Given the description of an element on the screen output the (x, y) to click on. 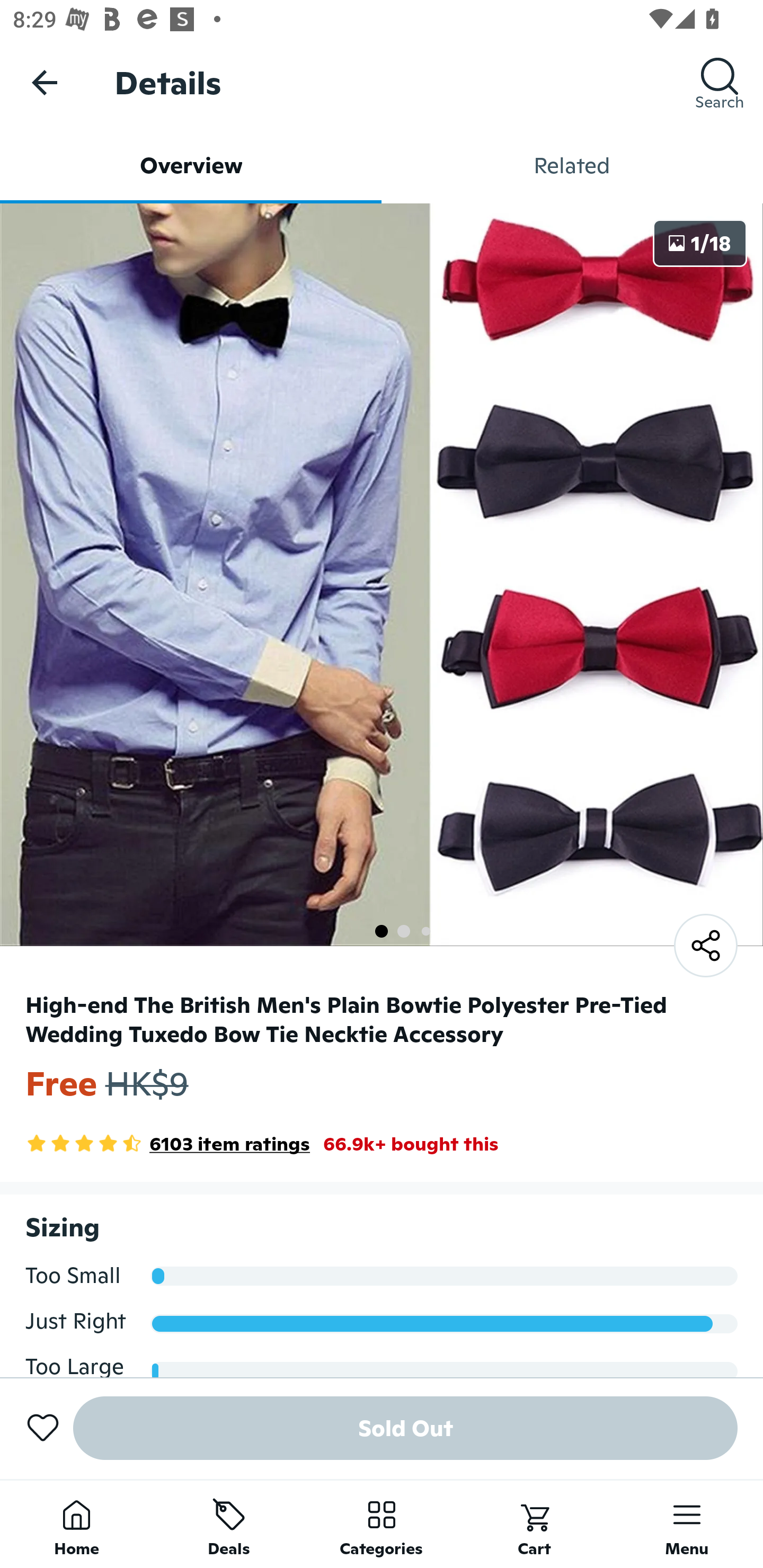
Navigate up (44, 82)
Search (719, 82)
Related (572, 165)
1/18 (700, 242)
4.4 Star Rating 6103 item ratings (167, 1143)
Sold Out (405, 1428)
Home (76, 1523)
Deals (228, 1523)
Categories (381, 1523)
Cart (533, 1523)
Menu (686, 1523)
